Given the description of an element on the screen output the (x, y) to click on. 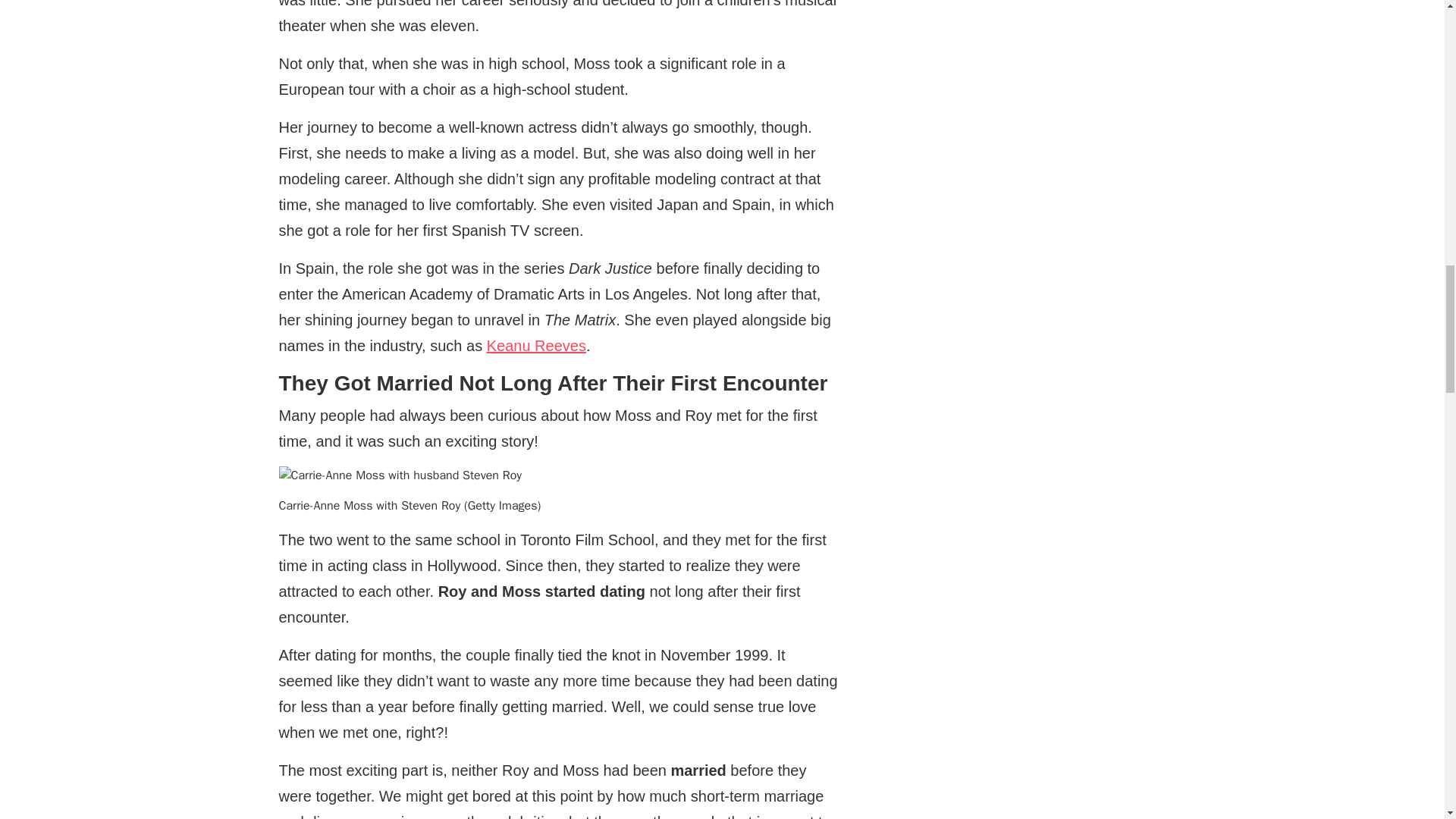
Keanu Reeves (536, 345)
